Given the description of an element on the screen output the (x, y) to click on. 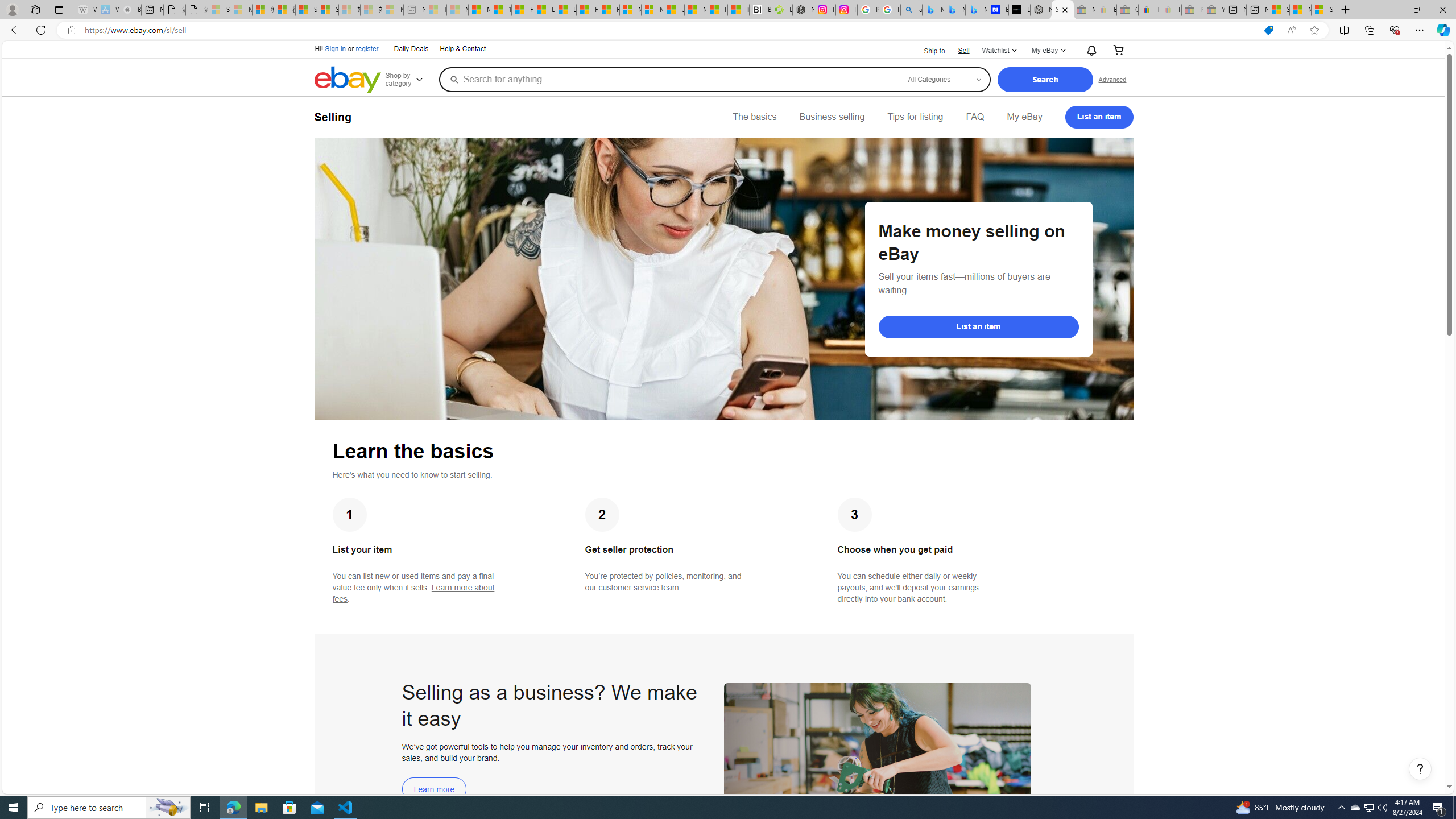
New tab - Sleeping (413, 9)
My eBay (1024, 116)
